Given the description of an element on the screen output the (x, y) to click on. 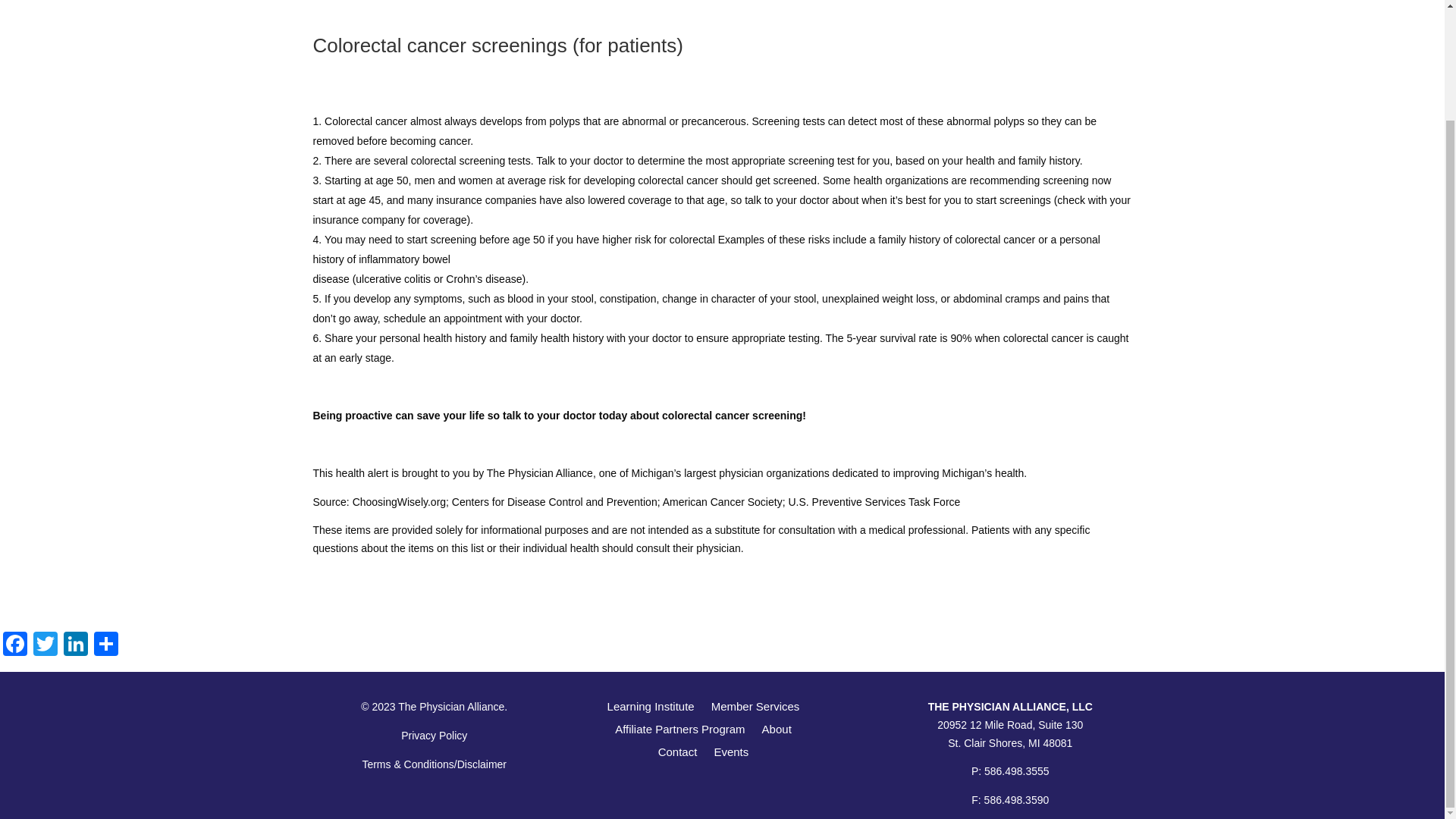
LinkedIn (75, 645)
Facebook (15, 645)
Twitter (45, 645)
